Given the description of an element on the screen output the (x, y) to click on. 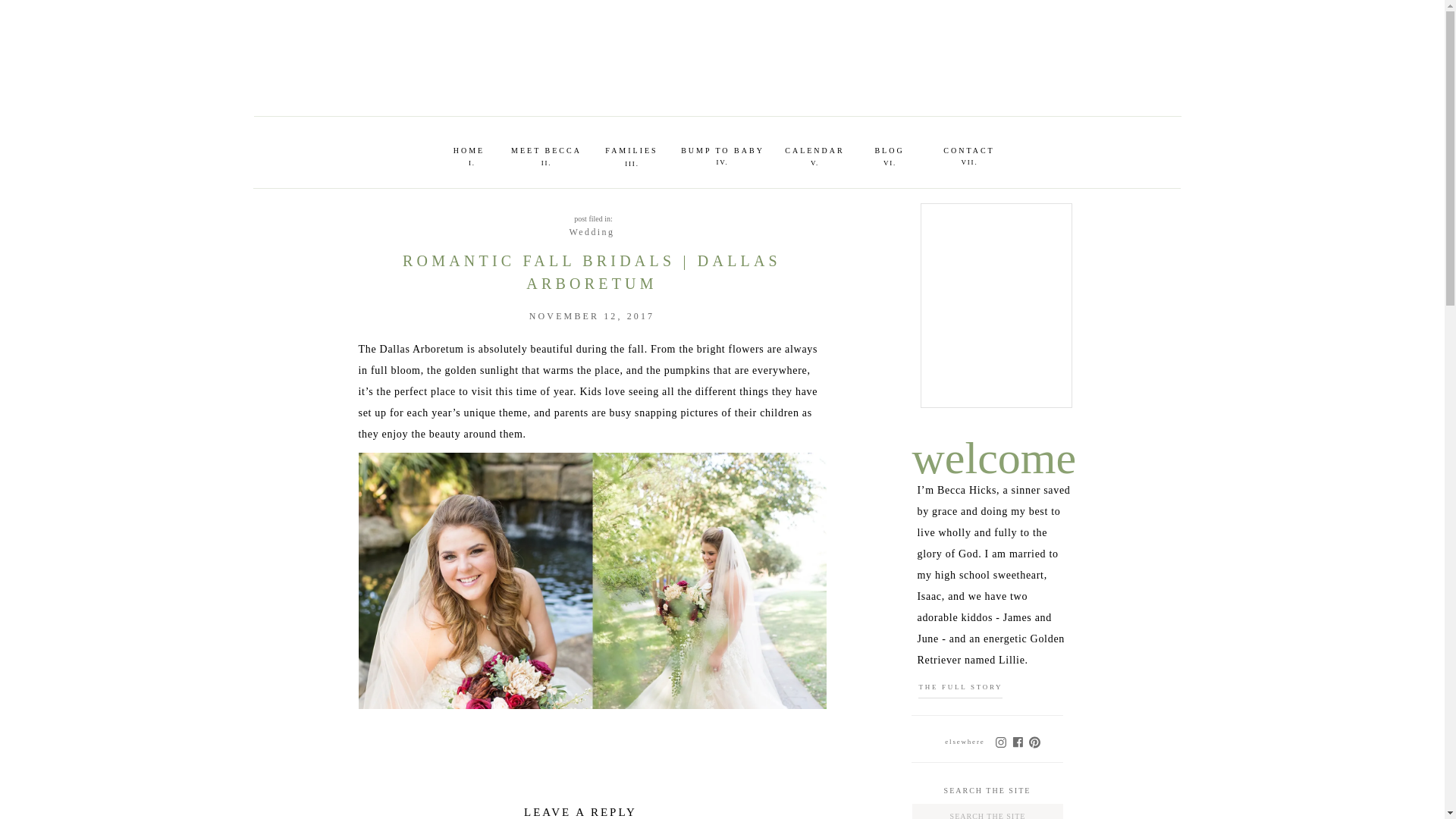
THE FULL STORY (968, 687)
HOME (468, 148)
BLOG (889, 148)
MEET BECCA (545, 148)
VI. (889, 161)
BUMP TO BABY (722, 148)
FAMILIES (630, 148)
CONTACT (969, 148)
Wedding (591, 231)
CALENDAR (815, 148)
